Given the description of an element on the screen output the (x, y) to click on. 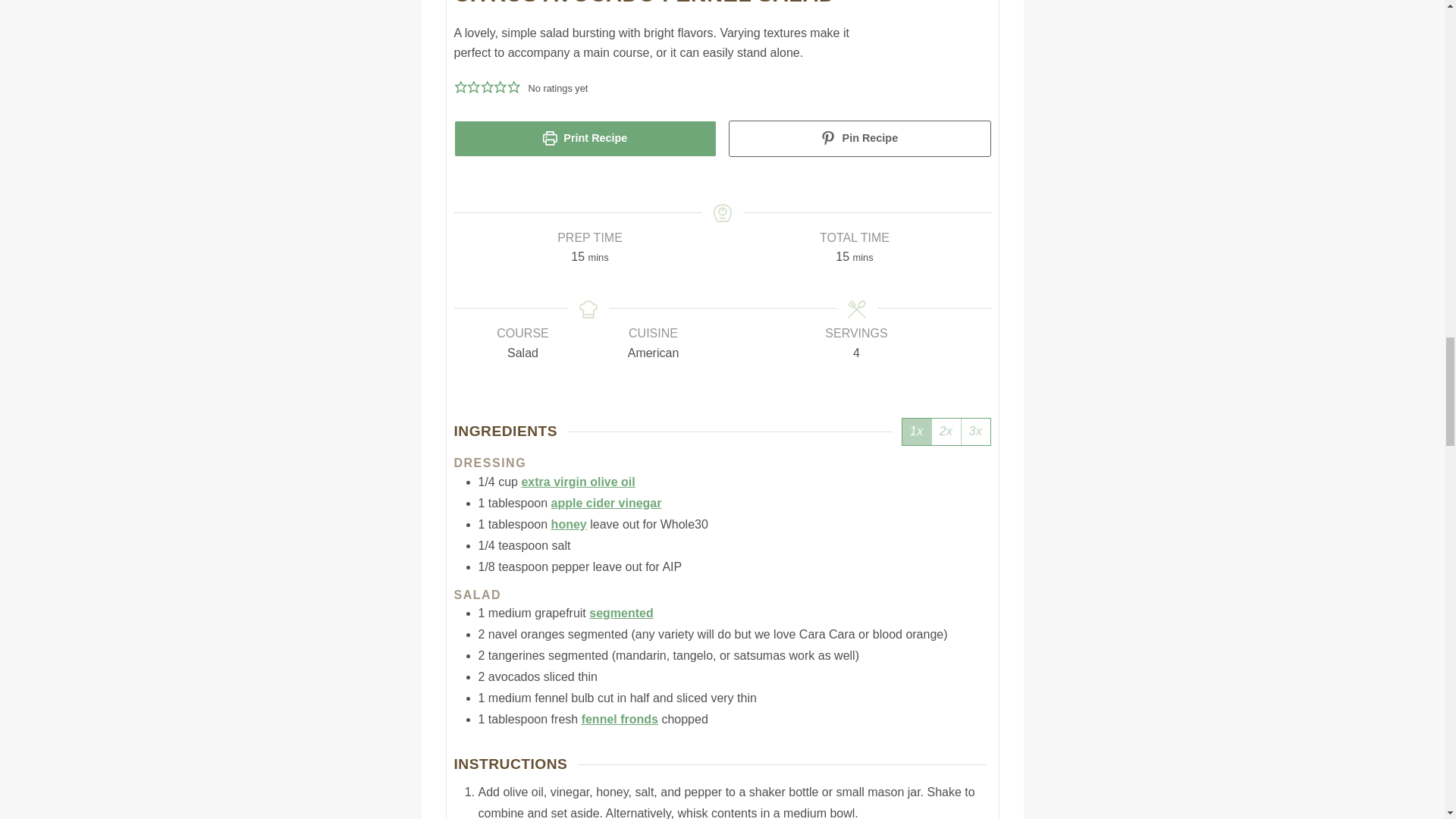
2x (945, 431)
Print Recipe (584, 138)
apple cider vinegar (606, 502)
extra virgin olive oil (577, 481)
Pin Recipe (859, 138)
3x (975, 431)
1x (916, 431)
